Given the description of an element on the screen output the (x, y) to click on. 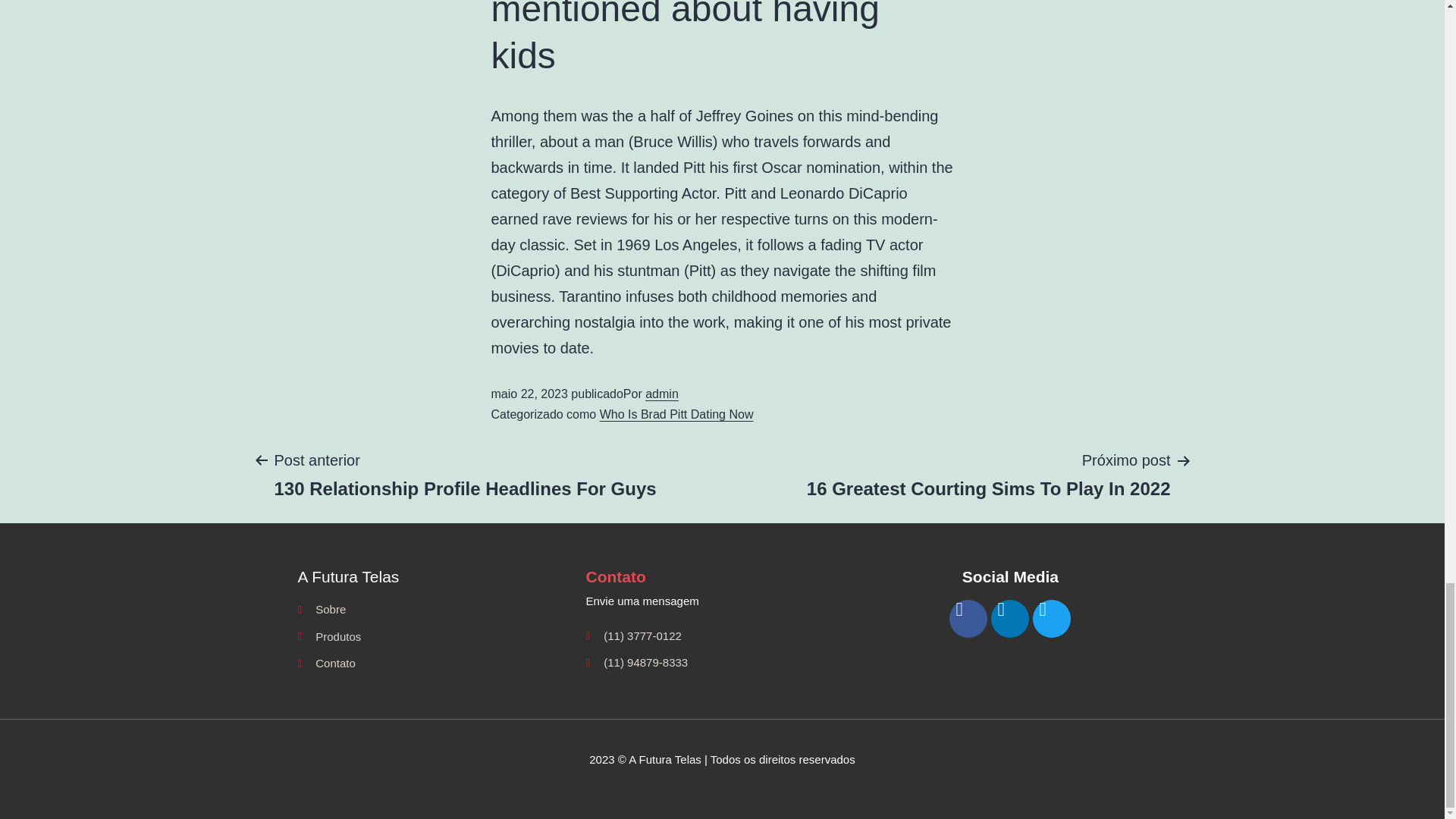
admin (661, 393)
Who Is Brad Pitt Dating Now (464, 473)
Produtos (676, 413)
Envie uma mensagem (433, 637)
Contato (722, 600)
Sobre (433, 663)
